Given the description of an element on the screen output the (x, y) to click on. 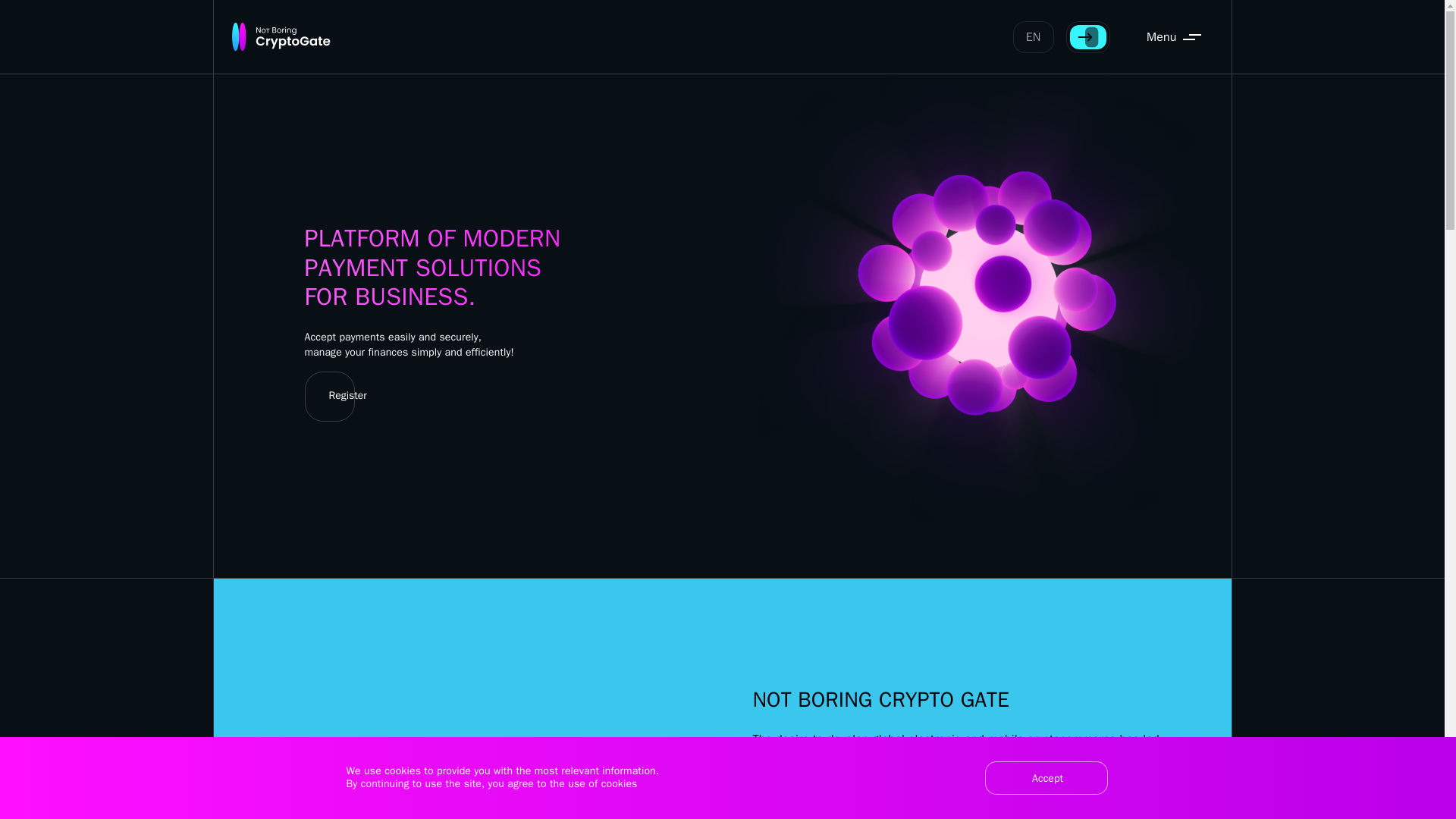
EN (1033, 37)
Register (342, 396)
